Given the description of an element on the screen output the (x, y) to click on. 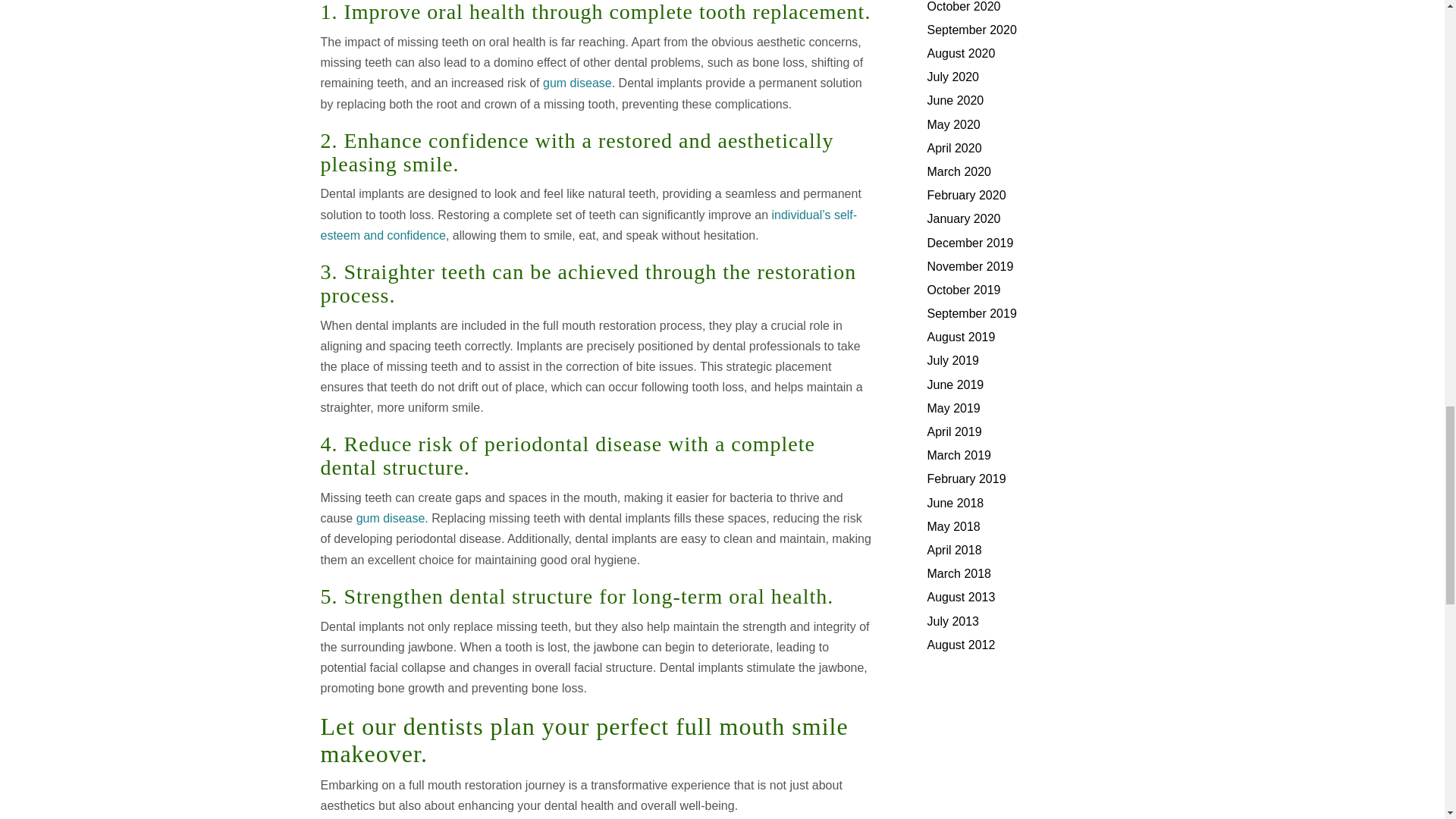
5 Things You Should Know About Recovering from Gum Disease (577, 82)
gum disease (390, 517)
gum disease (577, 82)
